Given the description of an element on the screen output the (x, y) to click on. 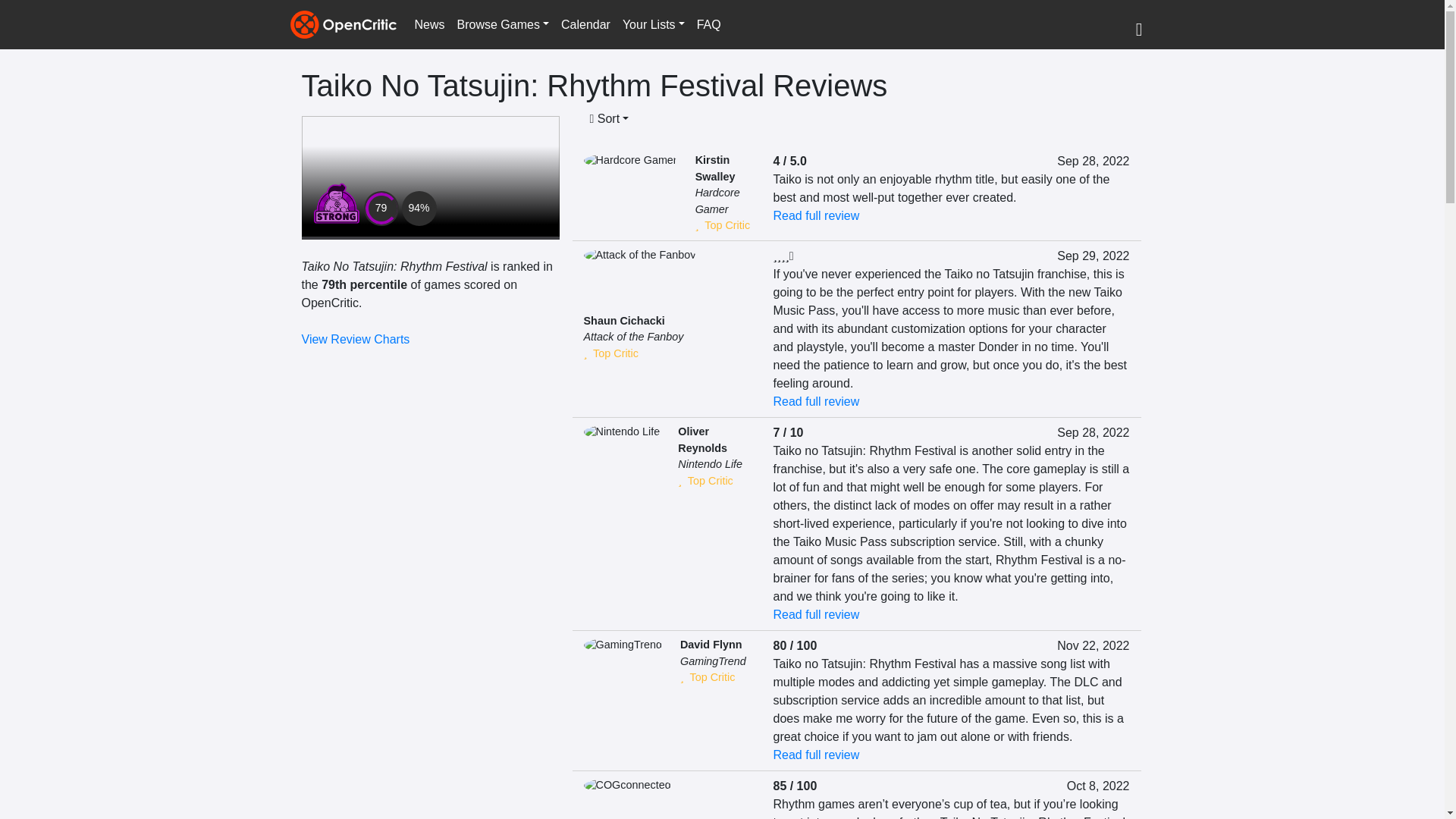
Hardcore Gamer (717, 200)
Nintendo Life (710, 463)
Your Lists (652, 24)
Kirstin Swalley (715, 167)
FAQ (708, 24)
Read full review (816, 215)
Read full review (816, 400)
Attack of the Fanboy (633, 336)
View Review Charts (355, 338)
News (428, 24)
Shaun Cichacki (624, 320)
Oliver Reynolds (702, 439)
Calendar (584, 24)
Browse Games (502, 24)
